Given the description of an element on the screen output the (x, y) to click on. 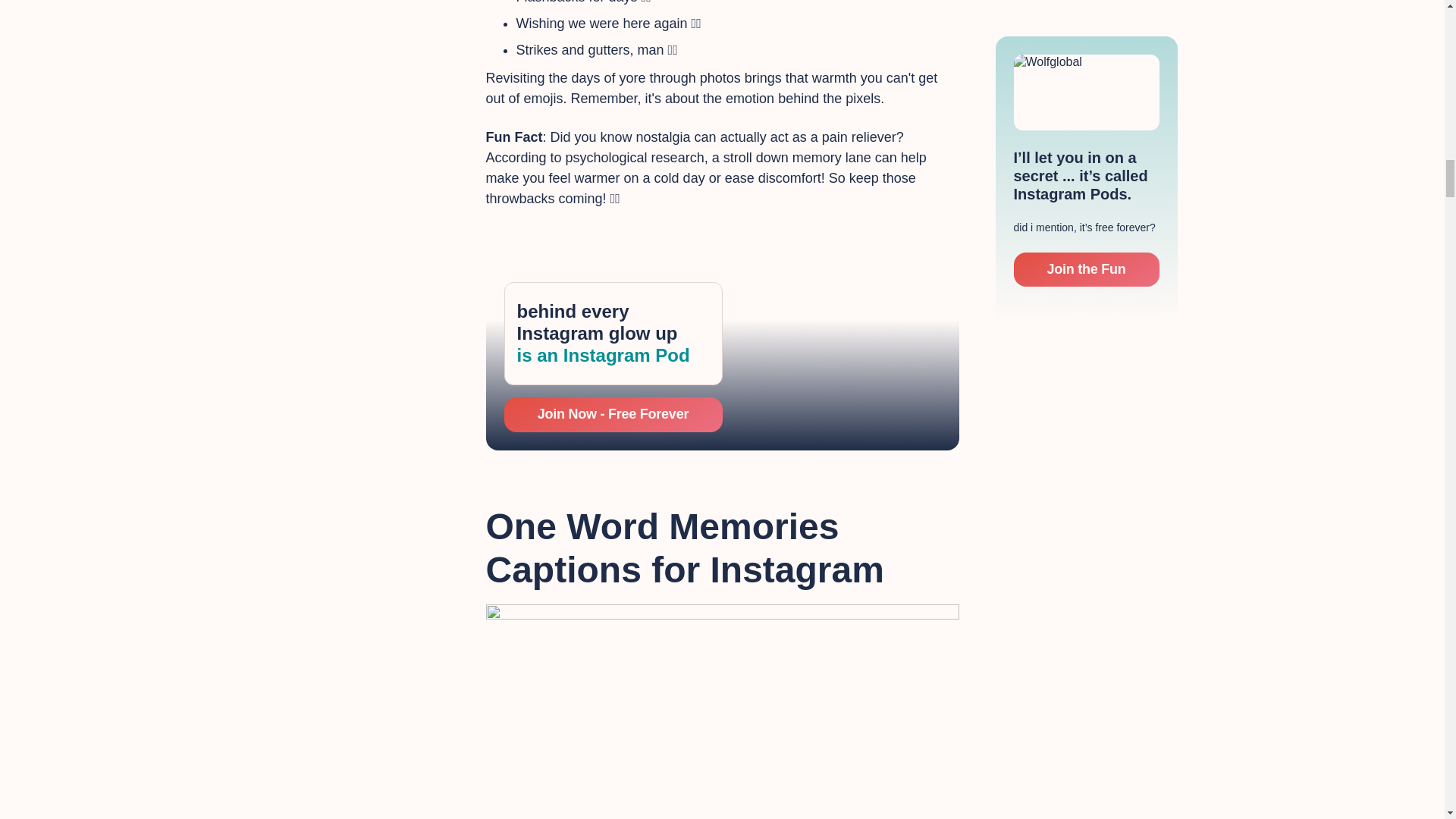
Join Now - Free Forever (612, 414)
